Given the description of an element on the screen output the (x, y) to click on. 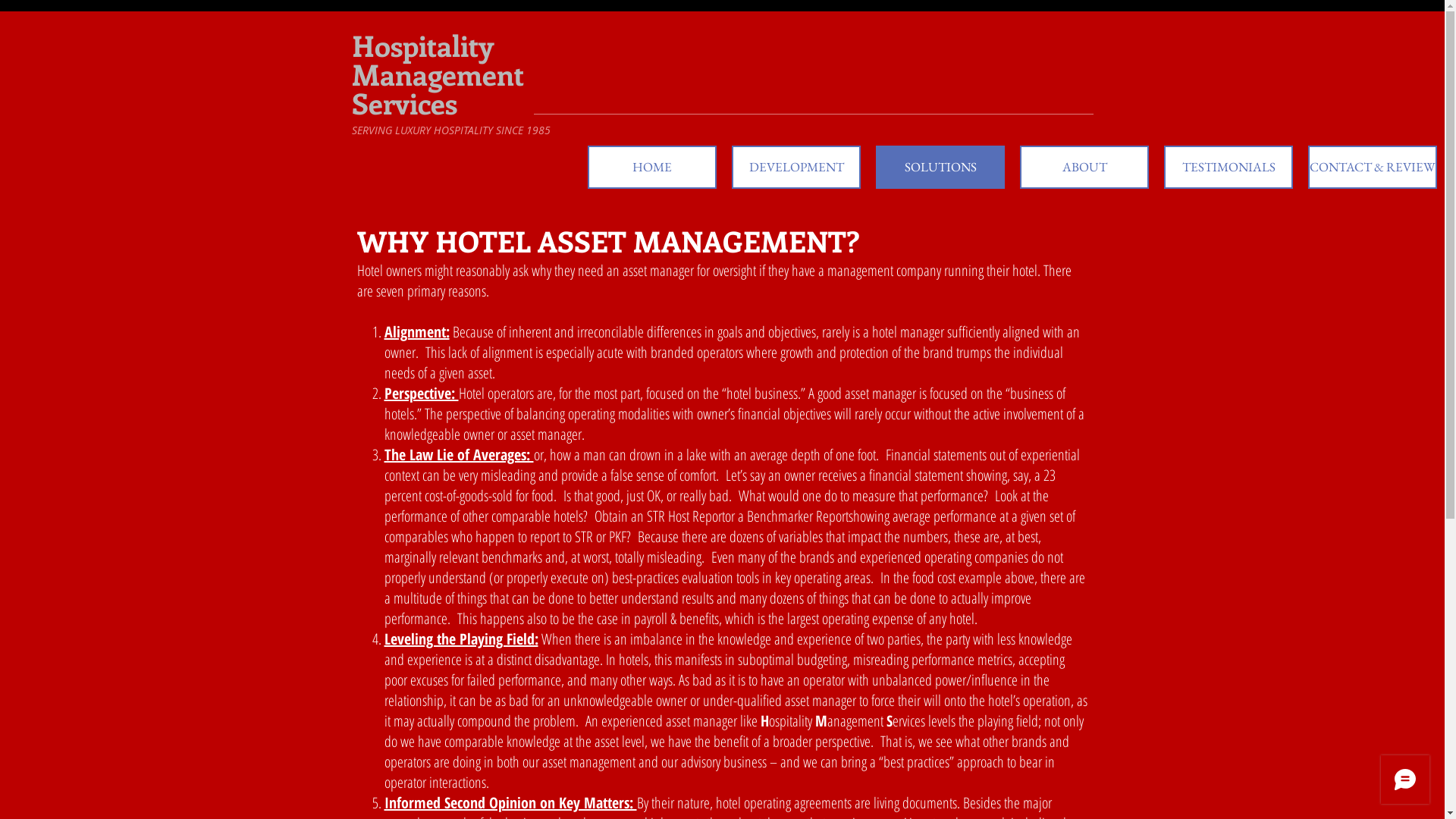
DEVELOPMENT Element type: text (795, 166)
Services Element type: text (404, 102)
ABOUT Element type: text (1083, 166)
HOME Element type: text (651, 166)
CONTACT & REVIEW Element type: text (1372, 166)
SOLUTIONS Element type: text (939, 166)
Hospitality Management Element type: text (437, 59)
SERVING LUXURY HOSPITALITY SINCE 1985 Element type: text (450, 129)
TESTIMONIALS Element type: text (1228, 166)
